Given the description of an element on the screen output the (x, y) to click on. 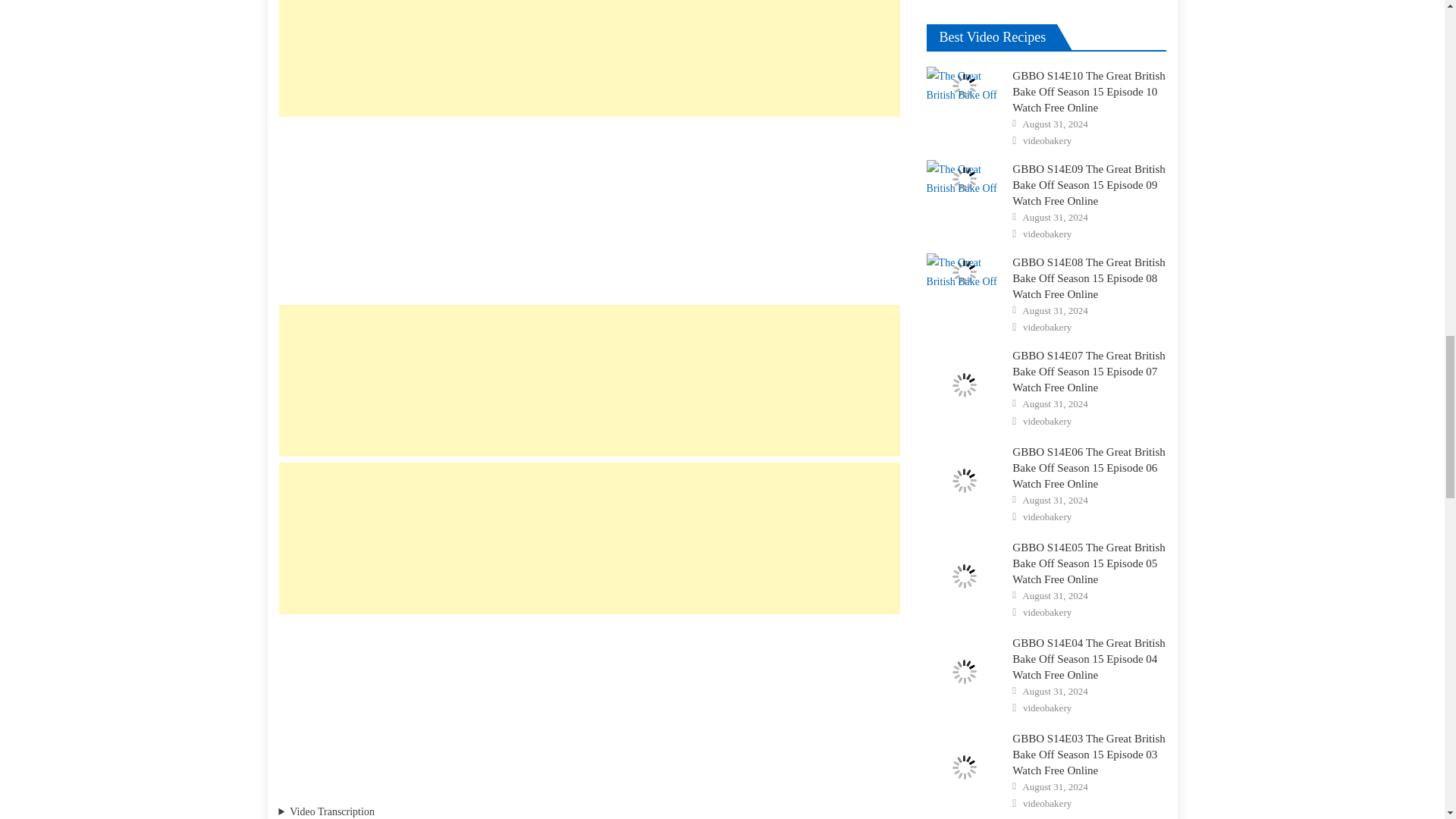
Advertisement (589, 380)
Advertisement (589, 705)
Advertisement (589, 207)
